Given the description of an element on the screen output the (x, y) to click on. 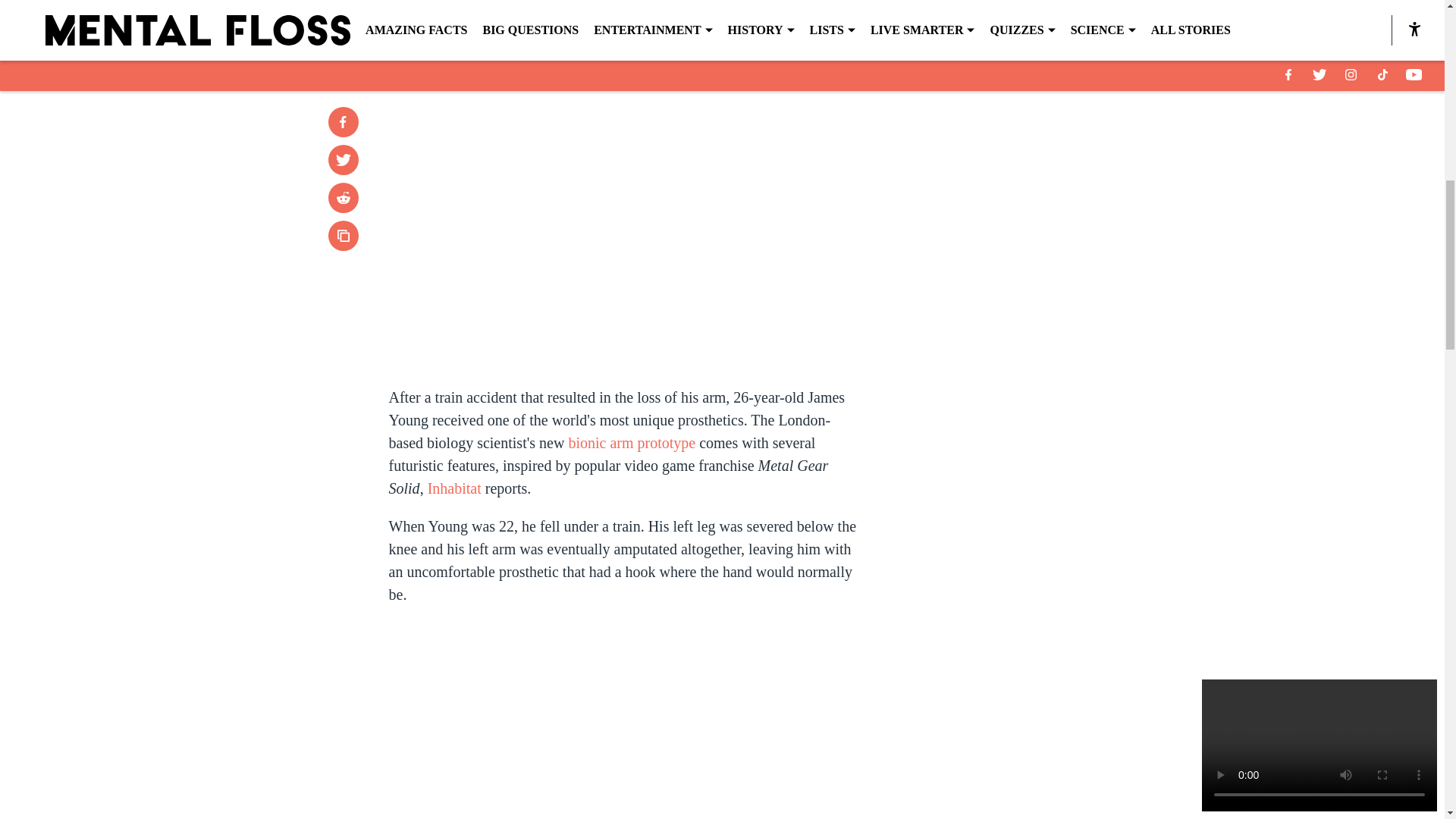
Alternative Limb Project (721, 22)
3rd party ad content (1047, 200)
3rd party ad content (1047, 420)
